Given the description of an element on the screen output the (x, y) to click on. 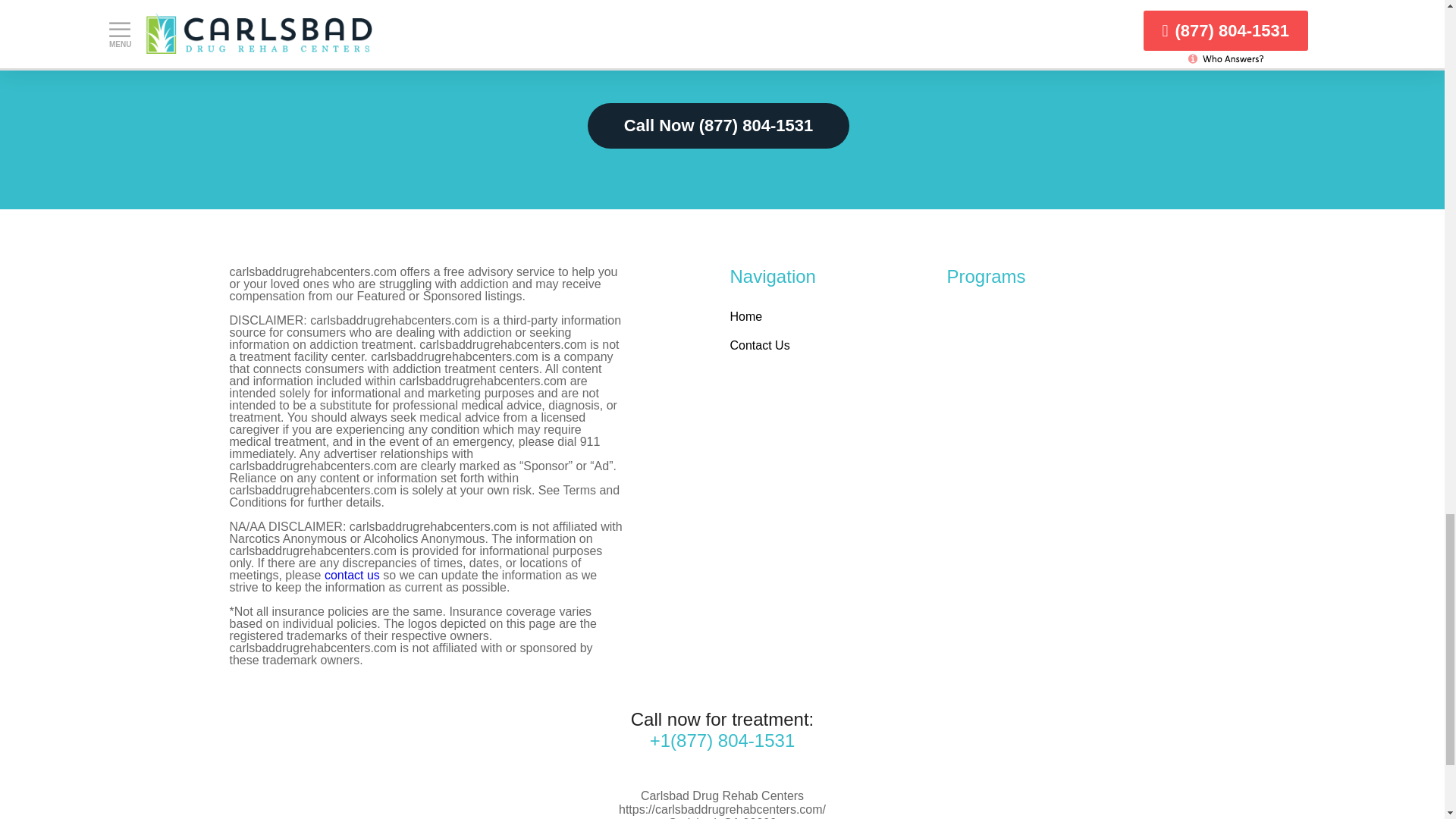
Contact Us (759, 345)
Home (745, 316)
contact us (352, 574)
